Given the description of an element on the screen output the (x, y) to click on. 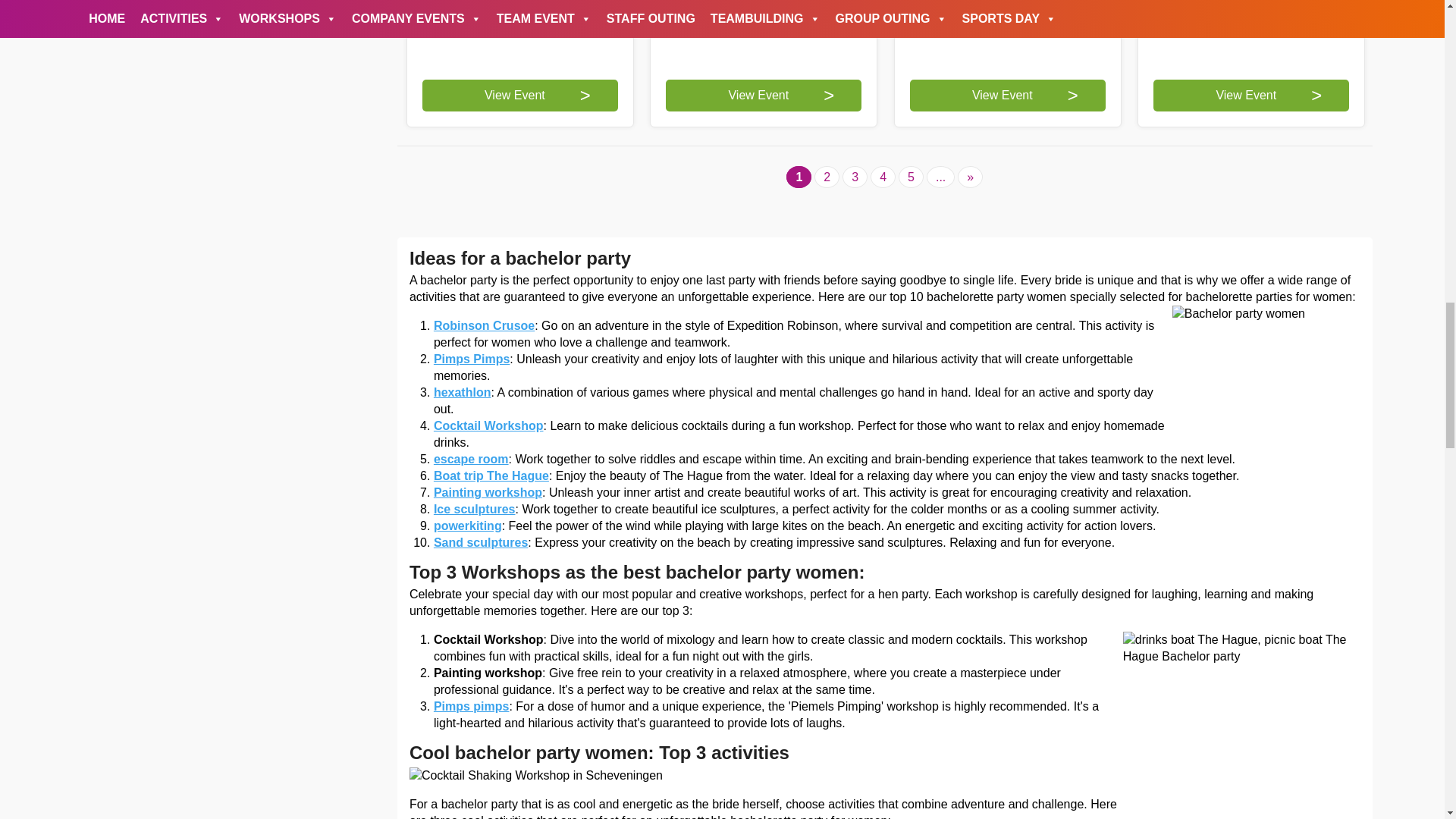
Page 3 (855, 177)
Page 4 (882, 177)
Page 2 (826, 177)
Page 5 (910, 177)
